Given the description of an element on the screen output the (x, y) to click on. 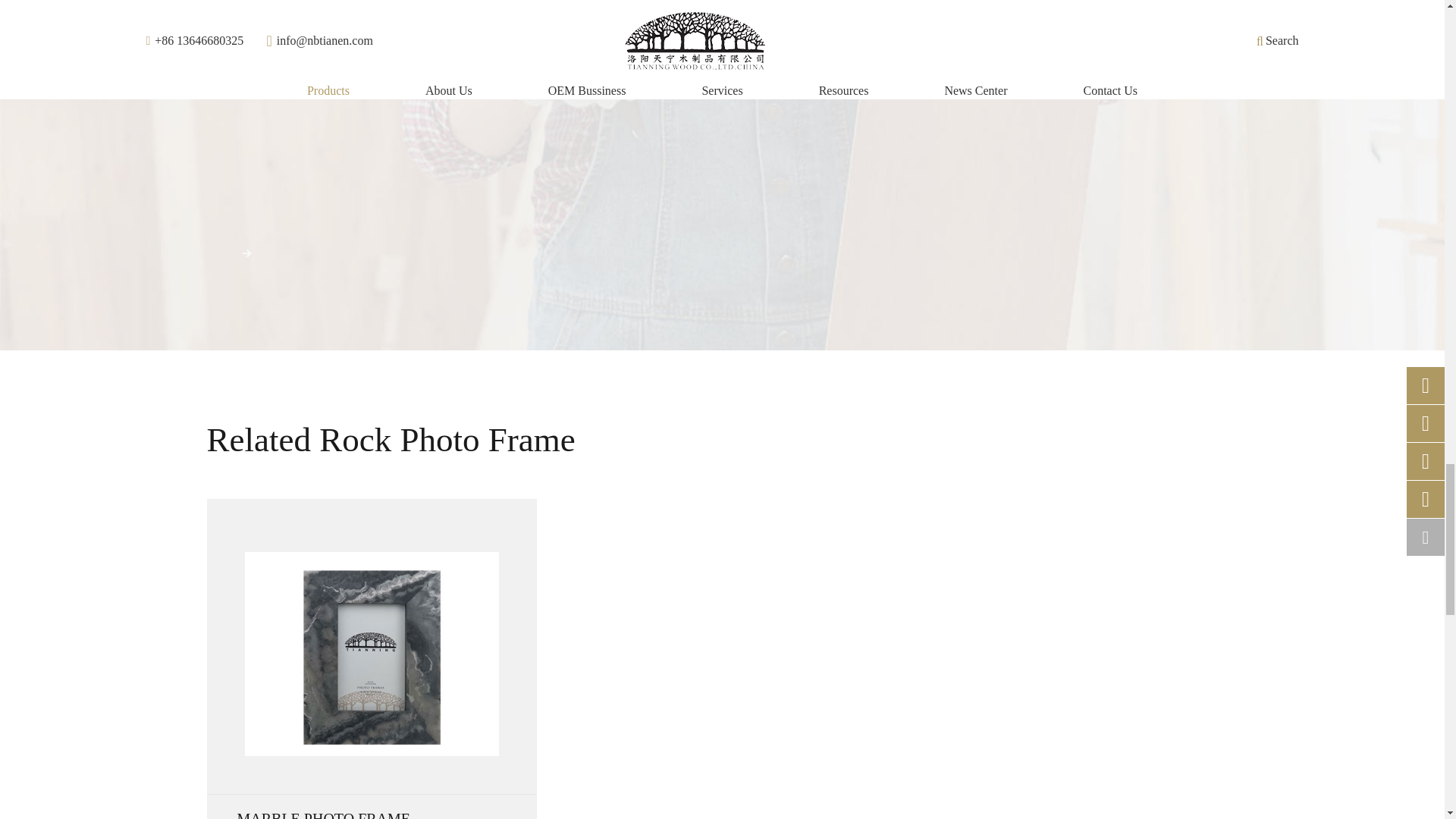
Marble Photo Frame (370, 653)
